Given the description of an element on the screen output the (x, y) to click on. 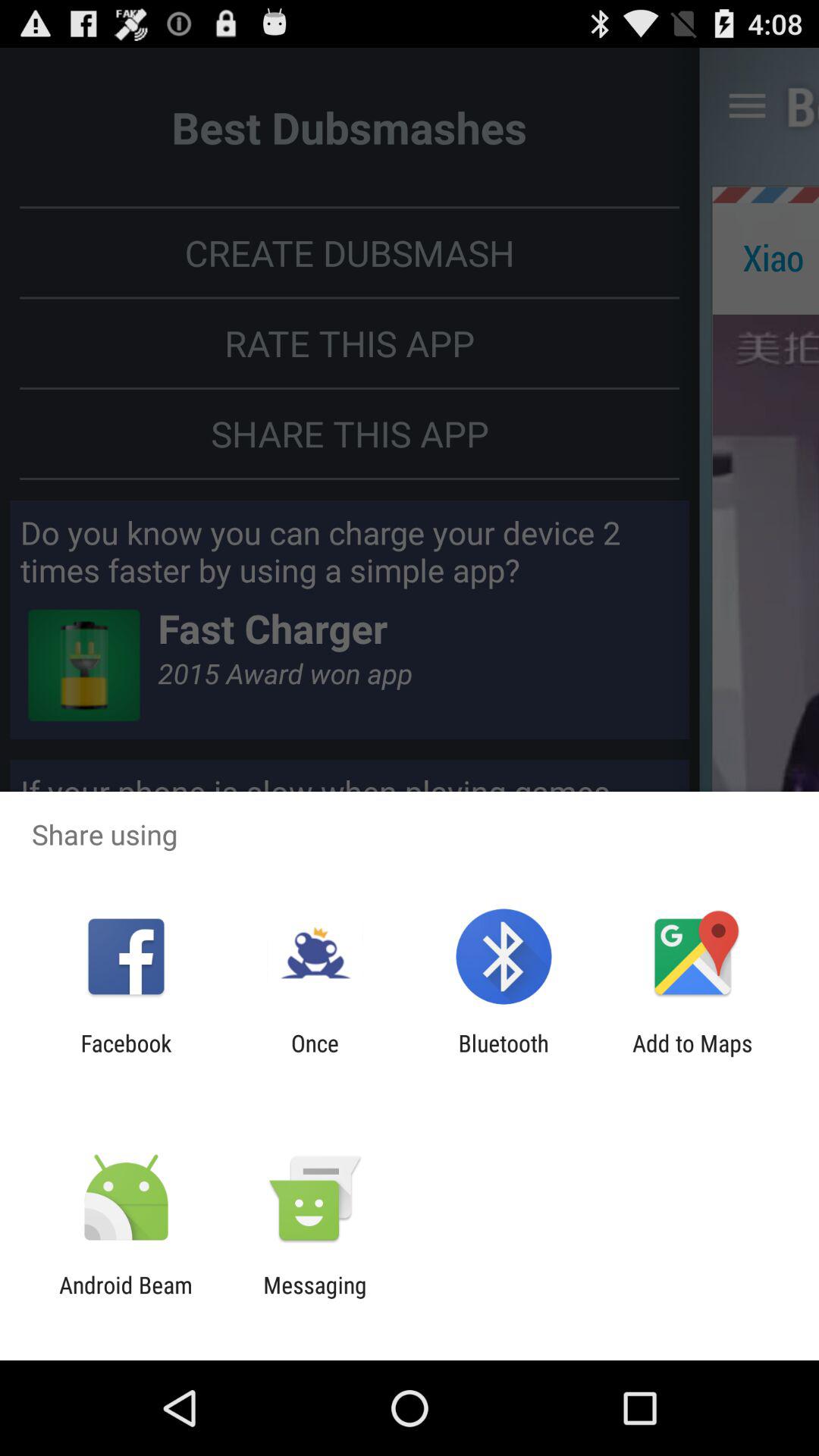
tap the messaging icon (314, 1298)
